Given the description of an element on the screen output the (x, y) to click on. 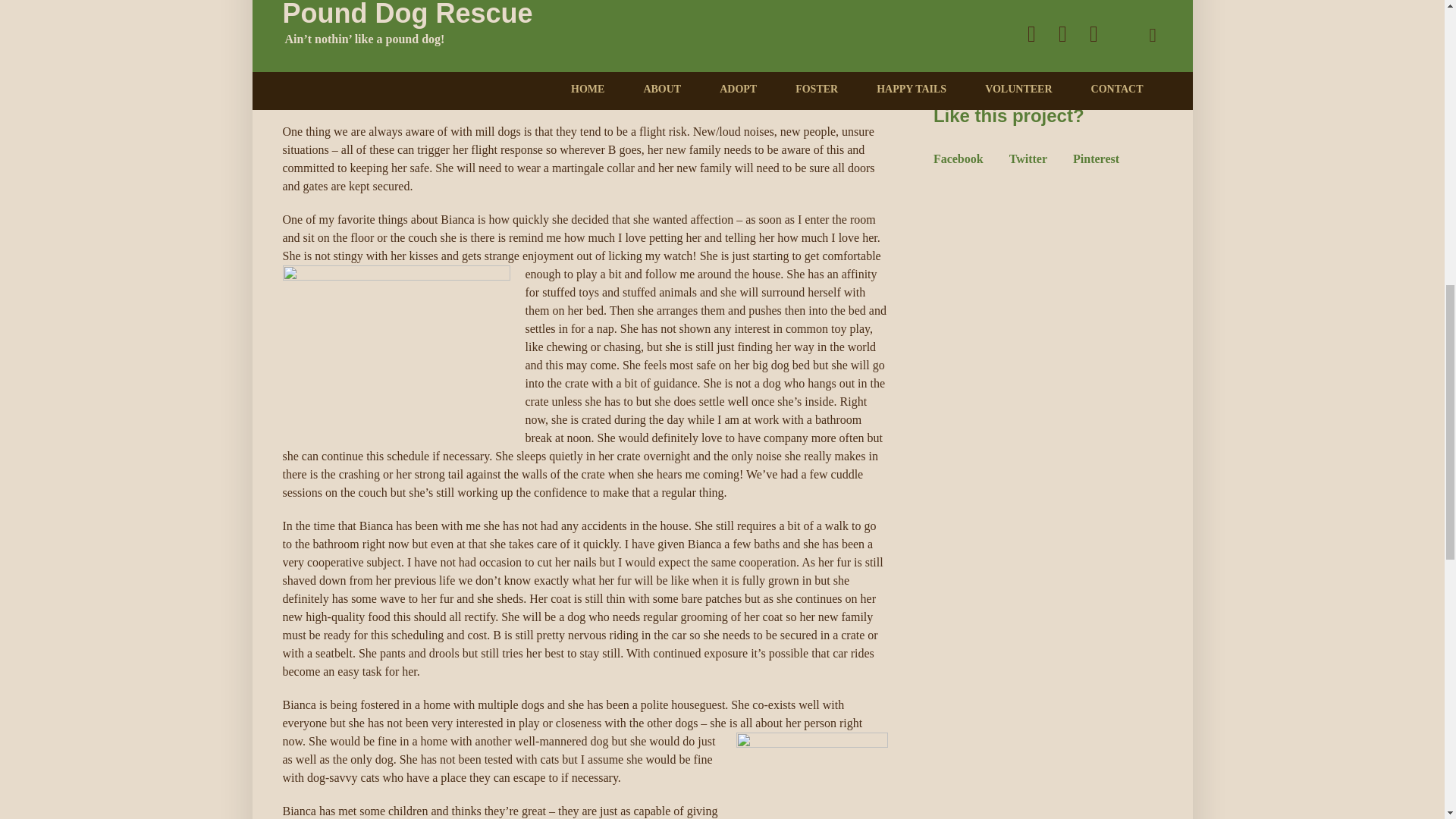
Pinterest (1096, 158)
Facebook (958, 158)
Twitter (1027, 158)
